Given the description of an element on the screen output the (x, y) to click on. 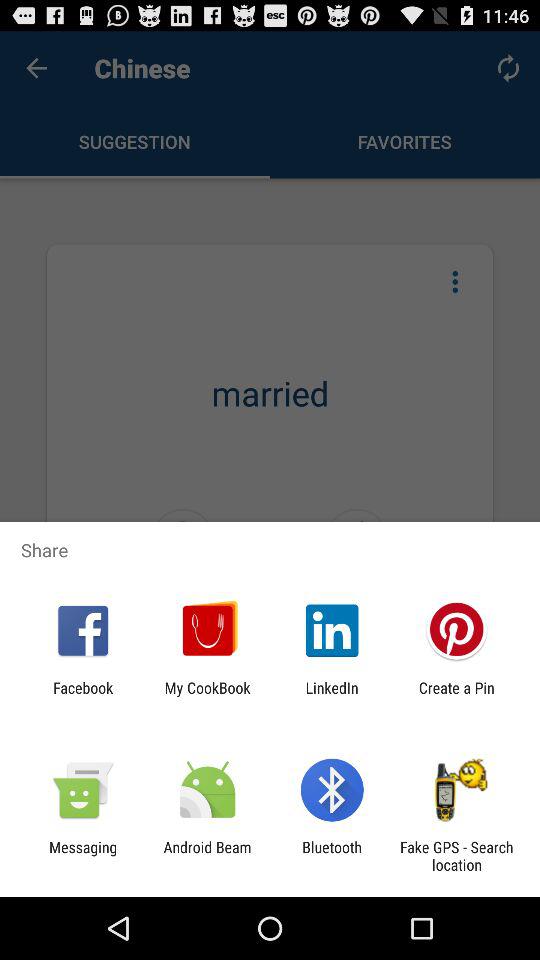
turn off the icon to the right of linkedin app (456, 696)
